Given the description of an element on the screen output the (x, y) to click on. 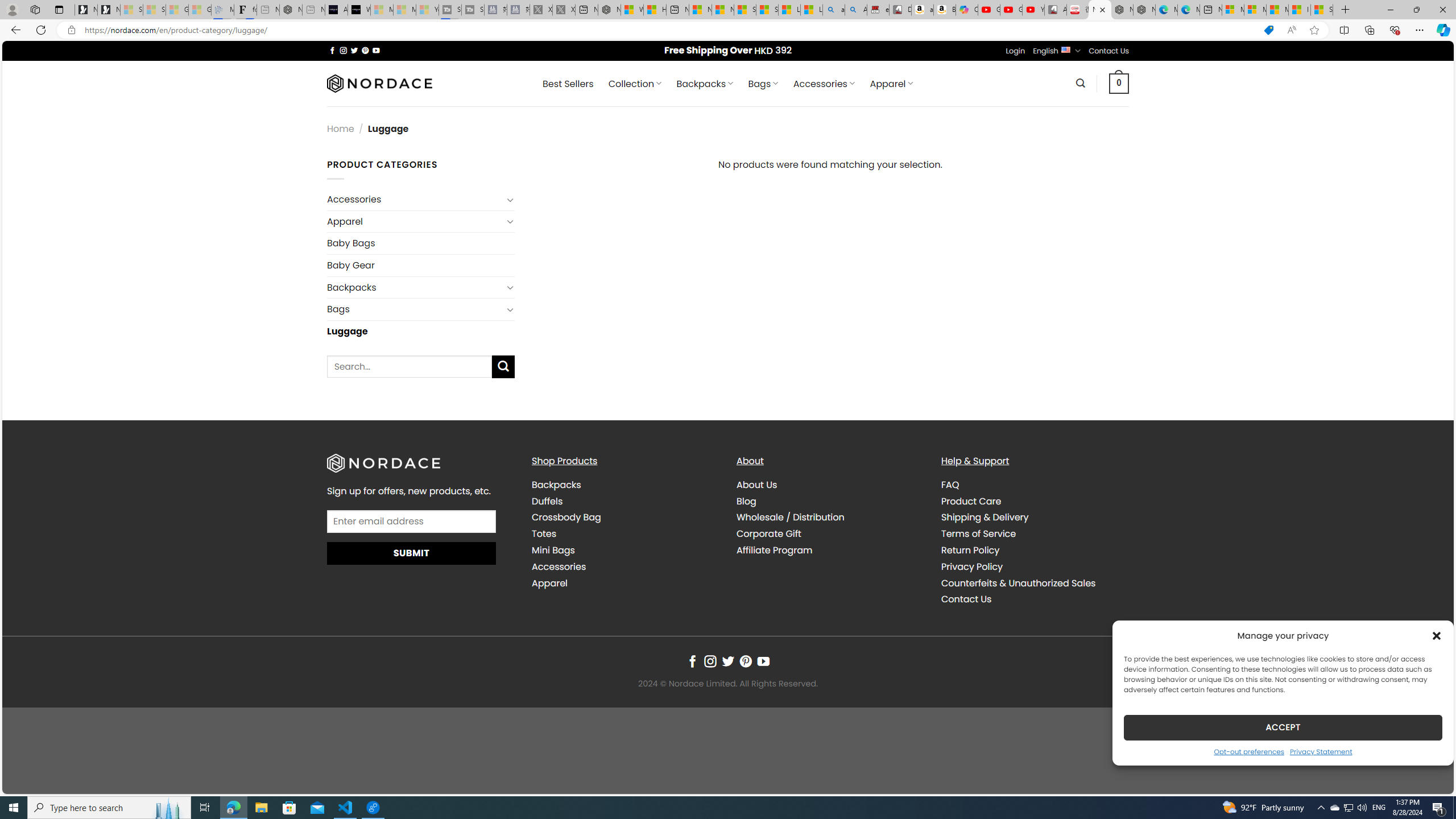
Duffels (625, 501)
AutomationID: field_4_1 (411, 522)
Terms of Service (978, 533)
YouTube Kids - An App Created for Kids to Explore Content (1033, 9)
Corporate Gift (830, 533)
Login (1015, 50)
Bags (415, 309)
Follow on Twitter (727, 661)
